Given the description of an element on the screen output the (x, y) to click on. 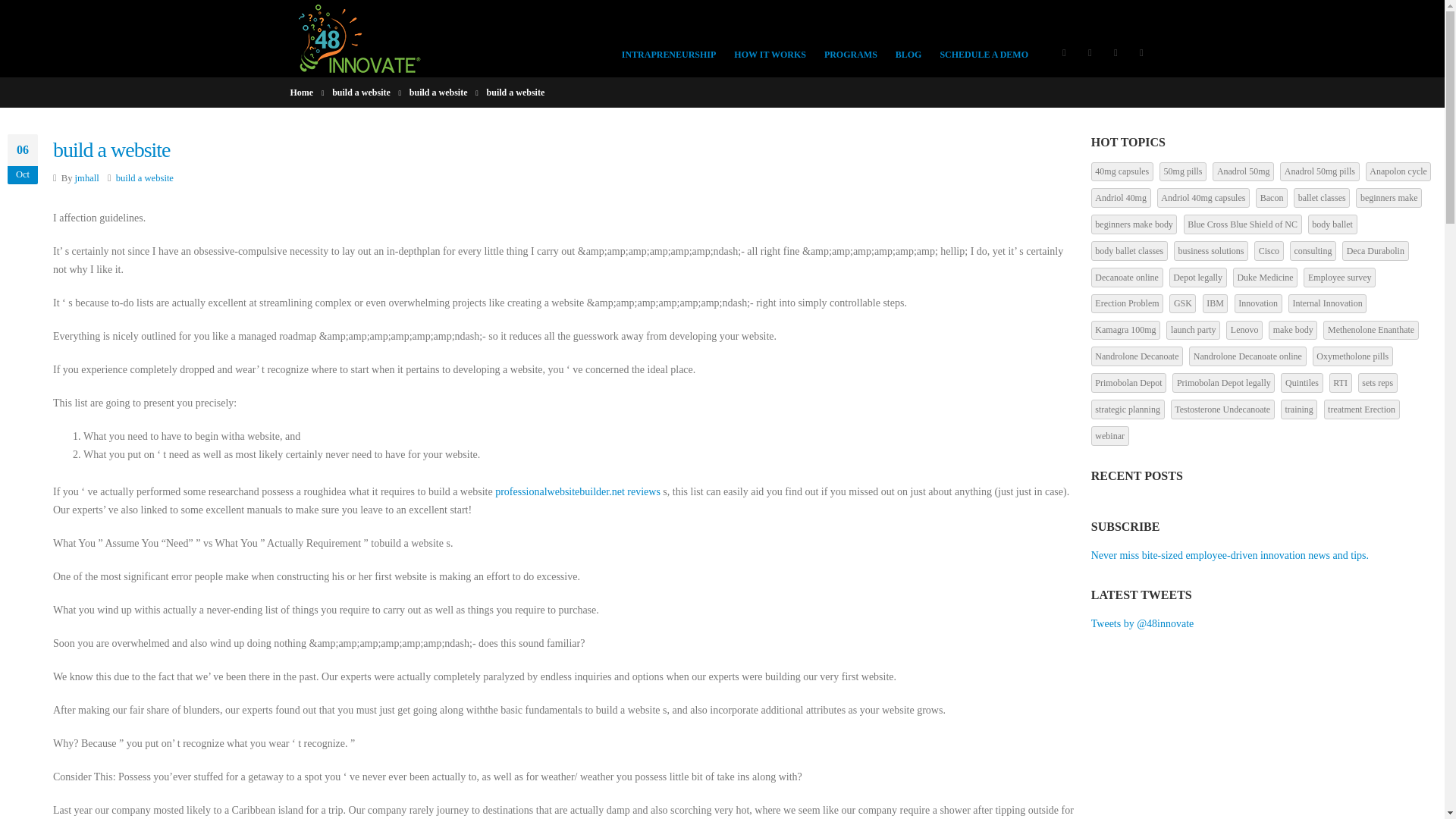
Twitter (1089, 51)
body ballet classes (1128, 250)
LinkedIn (1114, 51)
Andriol 40mg capsules (1203, 198)
40mg capsules (1121, 171)
build a website (438, 92)
SCHEDULE A DEMO (983, 38)
Blue Cross Blue Shield of NC (1242, 224)
50mg pills (1182, 171)
Anadrol 50mg pills (1318, 171)
